Given the description of an element on the screen output the (x, y) to click on. 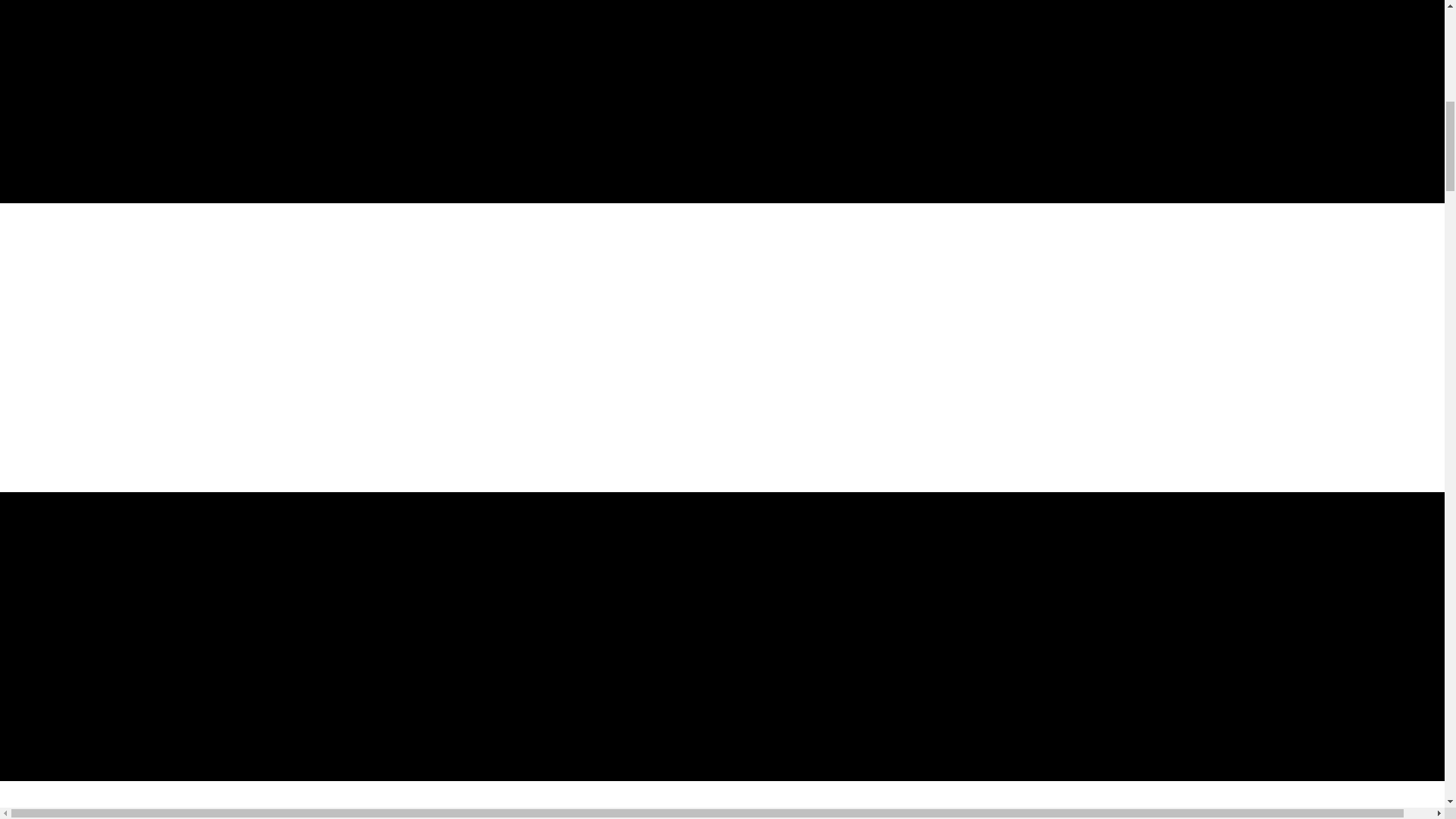
Septic Services (76, 814)
